Given the description of an element on the screen output the (x, y) to click on. 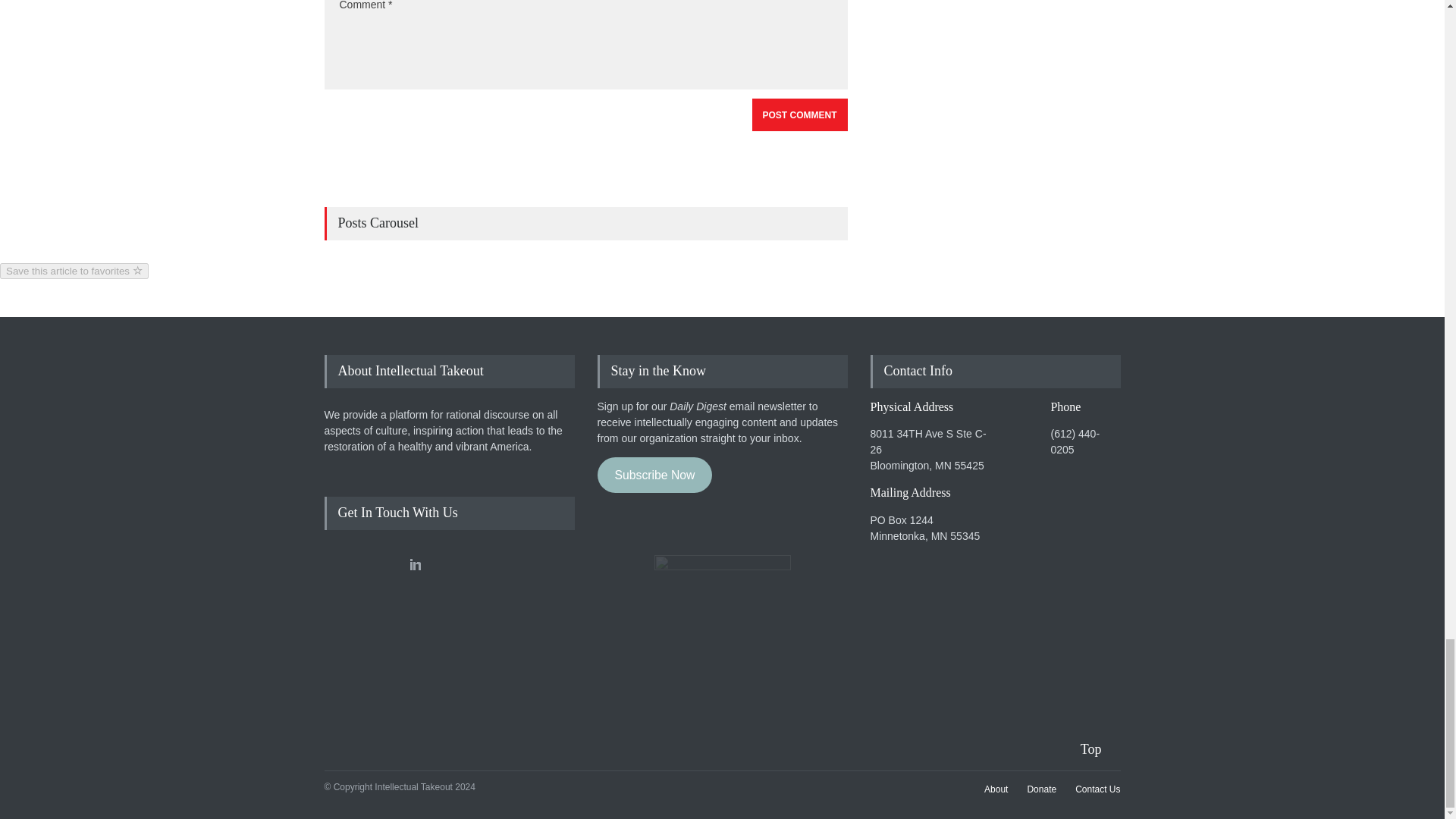
POST COMMENT (799, 114)
Top (1100, 749)
